Given the description of an element on the screen output the (x, y) to click on. 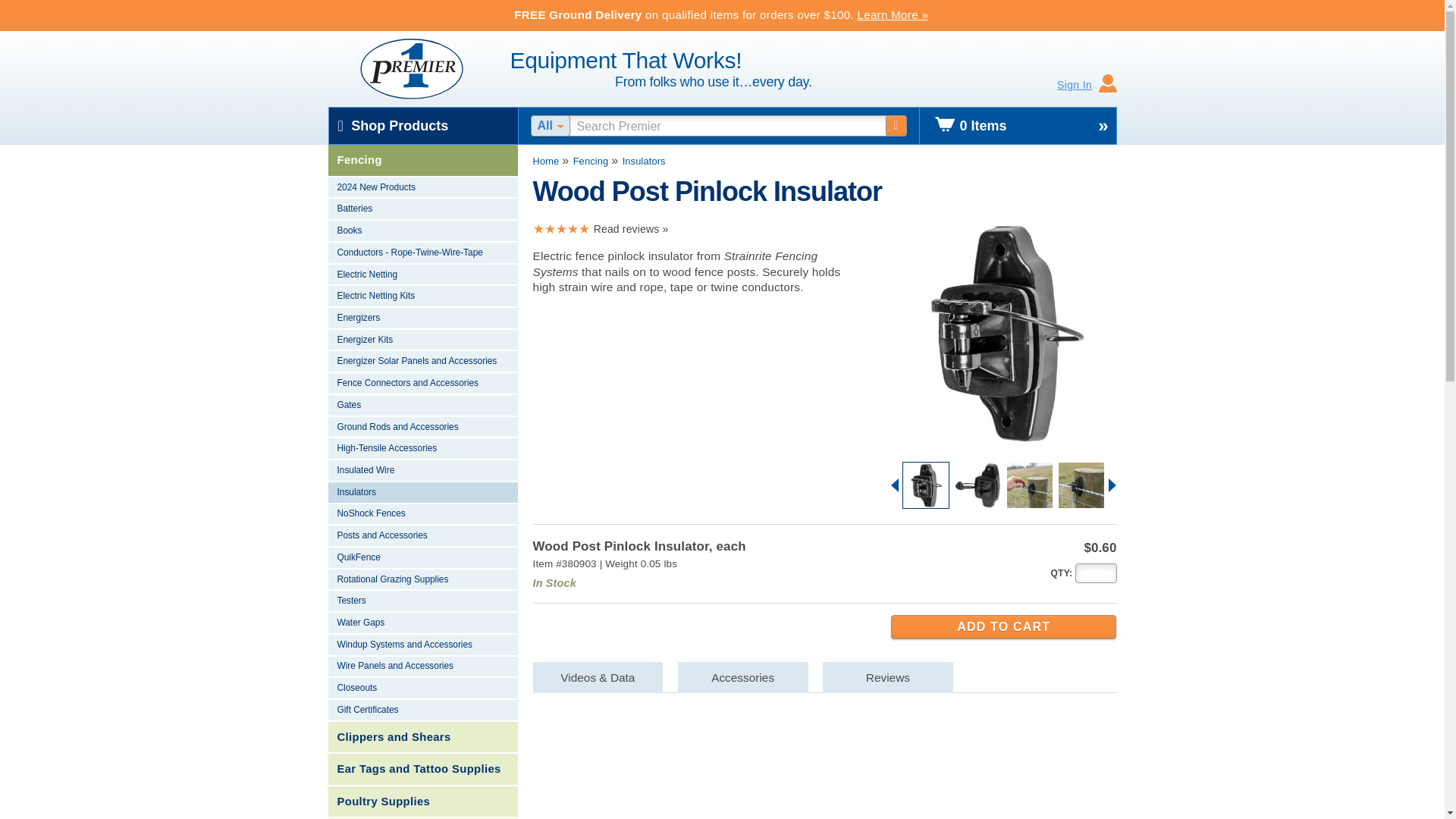
Electric Netting (421, 275)
Click here to search. (896, 125)
Energizer Solar Panels and Accessories (421, 362)
Ear Tags and Tattoo Supplies (421, 769)
Sign In (1086, 85)
Fencing (421, 160)
Insulated Wire (421, 471)
Electric Netting Kits (421, 296)
Books (421, 231)
